Given the description of an element on the screen output the (x, y) to click on. 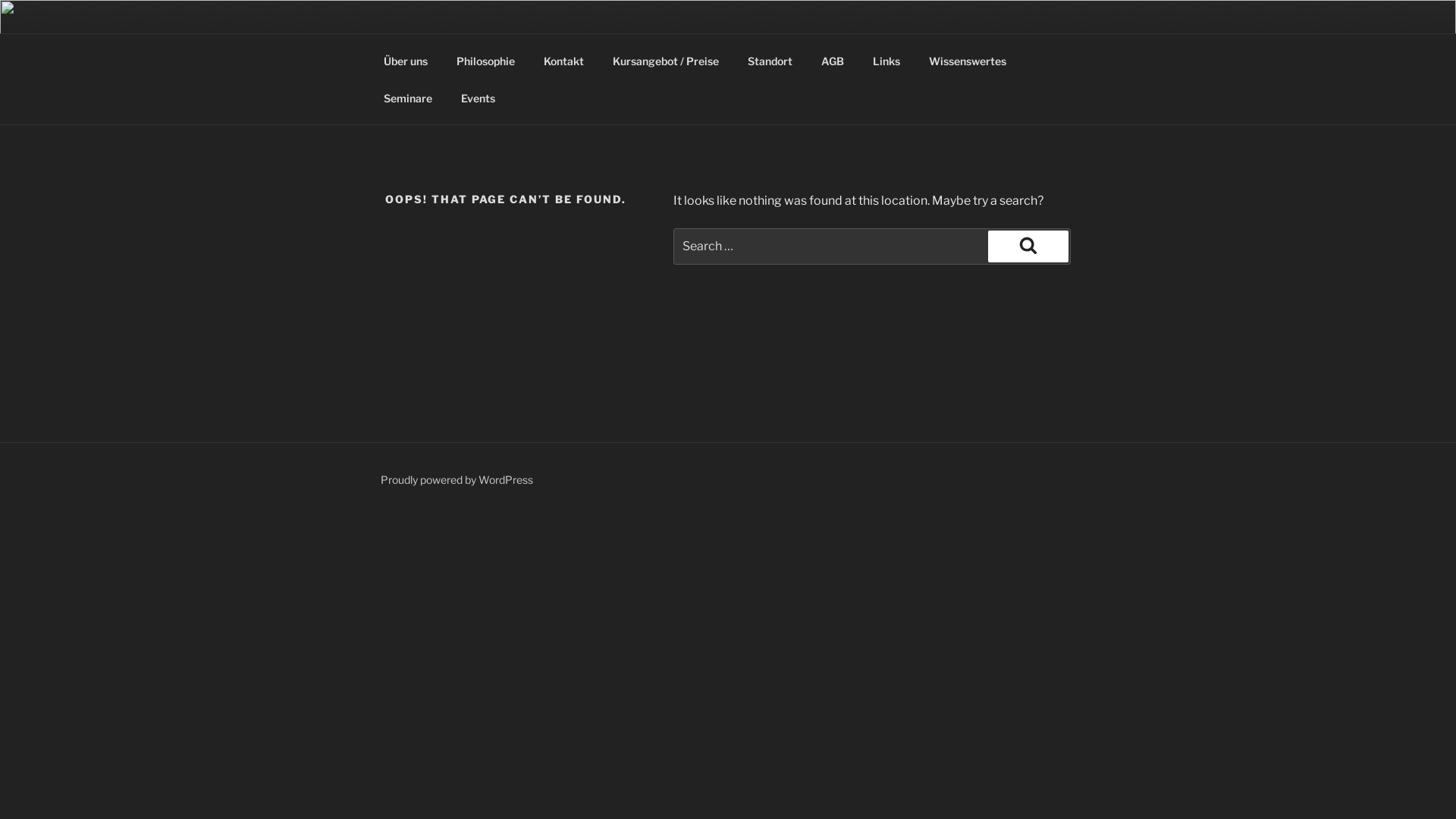
Seminare Element type: text (407, 97)
Search Element type: text (1028, 246)
Links Element type: text (886, 60)
Events Element type: text (477, 97)
Proudly powered by WordPress Element type: text (456, 479)
Standort Element type: text (769, 60)
Kursangebot / Preise Element type: text (665, 60)
Wissenswertes Element type: text (967, 60)
AGB Element type: text (831, 60)
Kontakt Element type: text (563, 60)
Philosophie Element type: text (484, 60)
AEGERIDOGS GMBH Element type: text (541, 52)
